Given the description of an element on the screen output the (x, y) to click on. 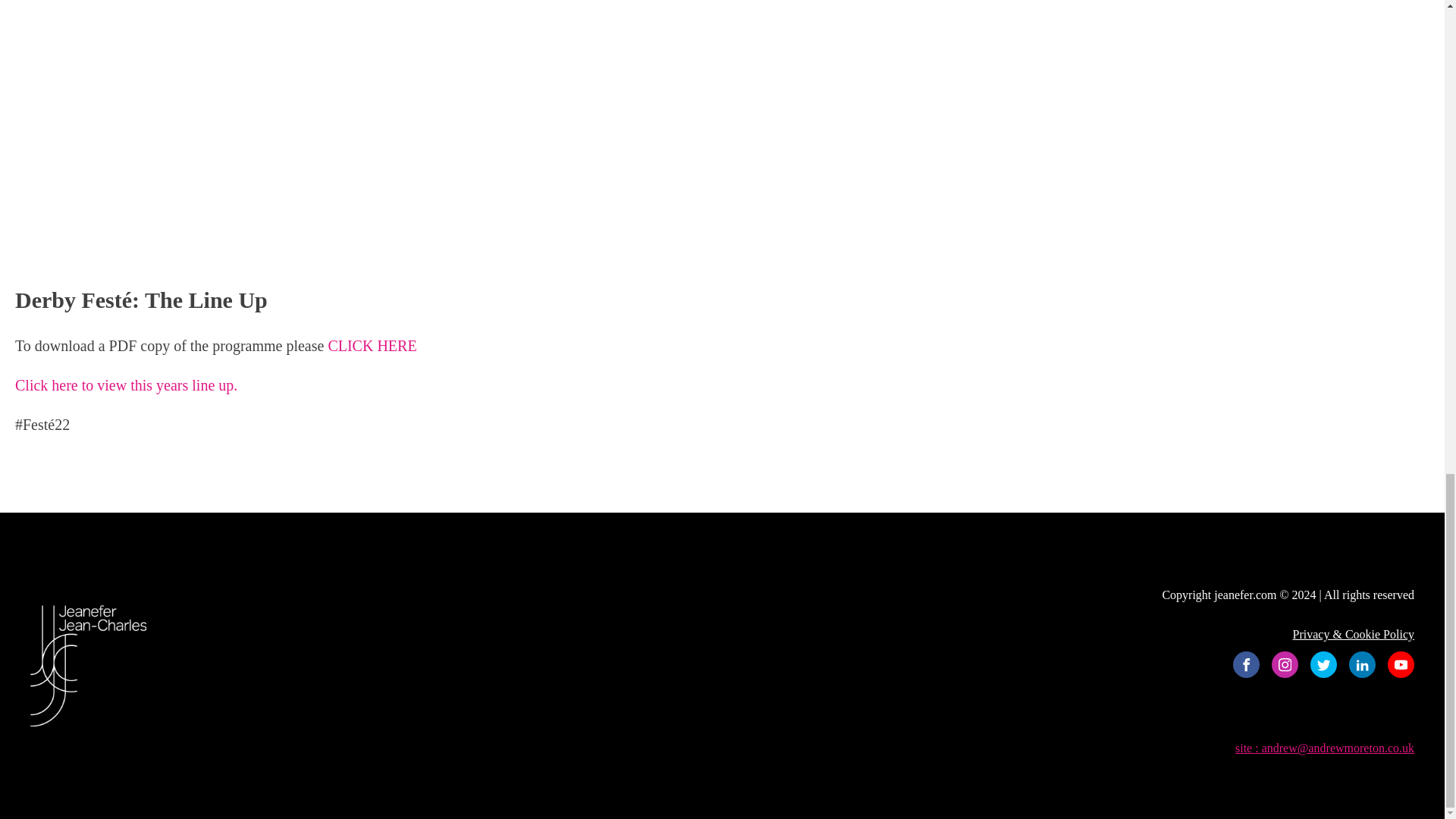
CLICK HERE (371, 345)
Click here to view this years line up. (125, 384)
